Given the description of an element on the screen output the (x, y) to click on. 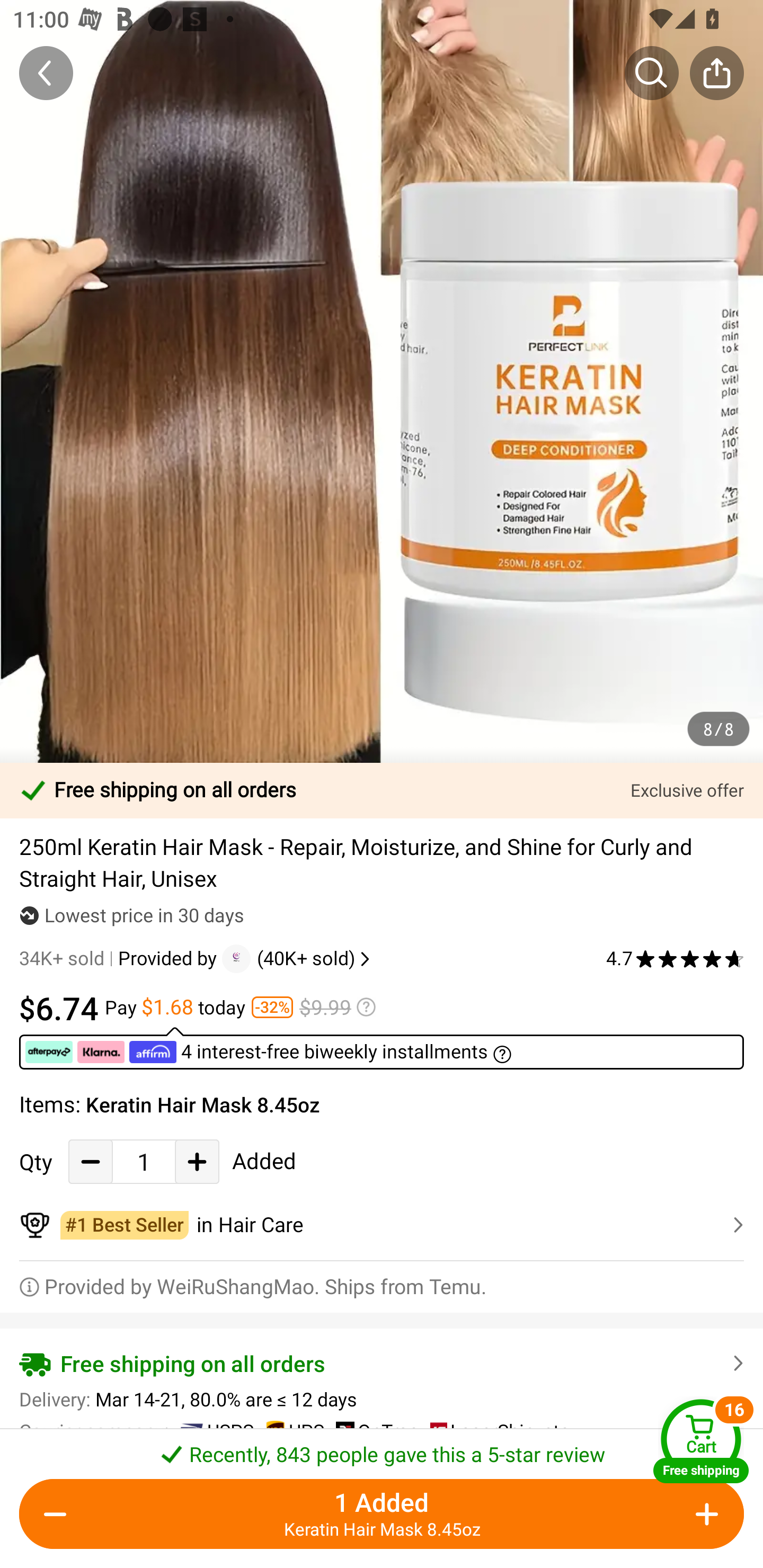
Back (46, 72)
Share (716, 72)
Free shipping on all orders Exclusive offer (381, 790)
4.7 (674, 958)
￼ ￼ ￼ 4 interest-free biweekly installments ￼ (381, 1048)
Decrease Quantity Button (90, 1161)
1 (143, 1161)
Add Quantity button (196, 1161)
￼￼in Hair Care (381, 1225)
Cart Free shipping Cart (701, 1440)
￼￼Recently, 843 people gave this a 5-star review (381, 1448)
Decrease Quantity Button (59, 1513)
Add Quantity button (703, 1513)
